Given the description of an element on the screen output the (x, y) to click on. 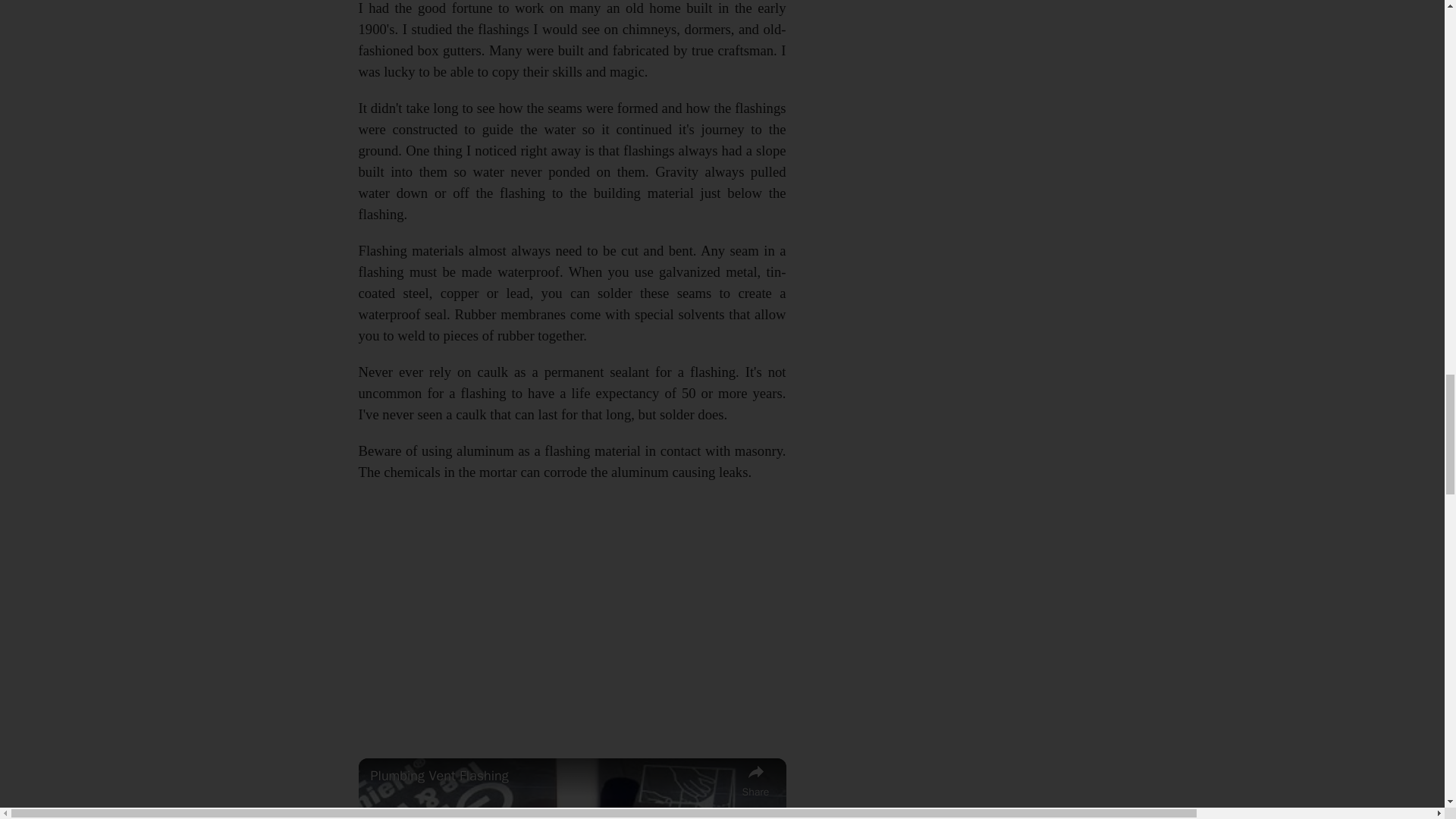
YouTube video player (570, 617)
